Given the description of an element on the screen output the (x, y) to click on. 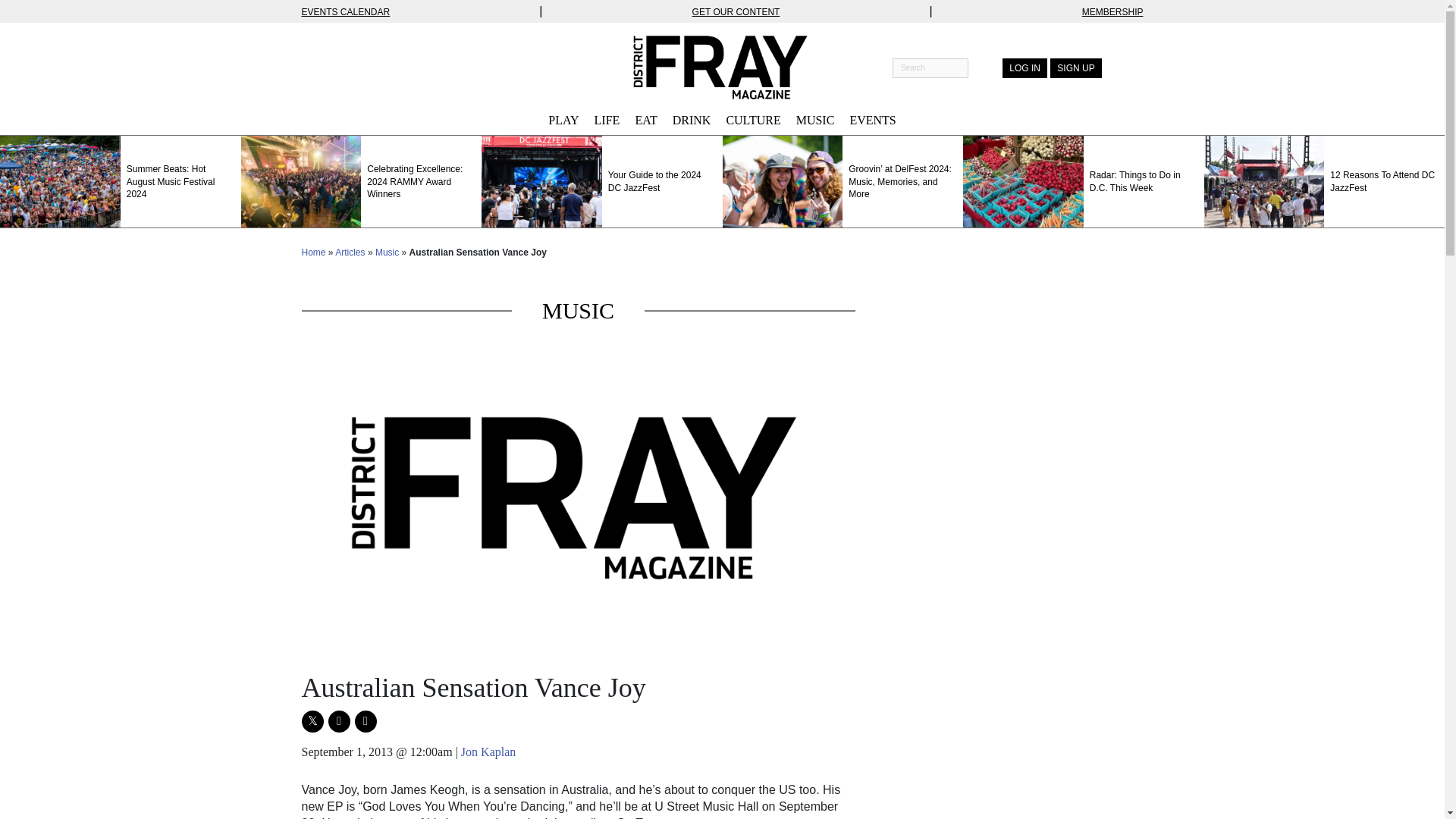
EVENTS CALENDAR (345, 11)
Twitter share (312, 721)
SIGN UP (1074, 67)
LOG IN (1024, 67)
PLAY (563, 119)
Login (1024, 67)
Facebook share (338, 721)
Posts by Jon Kaplan (488, 751)
Register (1074, 67)
GET OUR CONTENT (736, 11)
linkedin Share (366, 721)
MEMBERSHIP (1111, 11)
LIFE (607, 119)
EAT (645, 119)
